Given the description of an element on the screen output the (x, y) to click on. 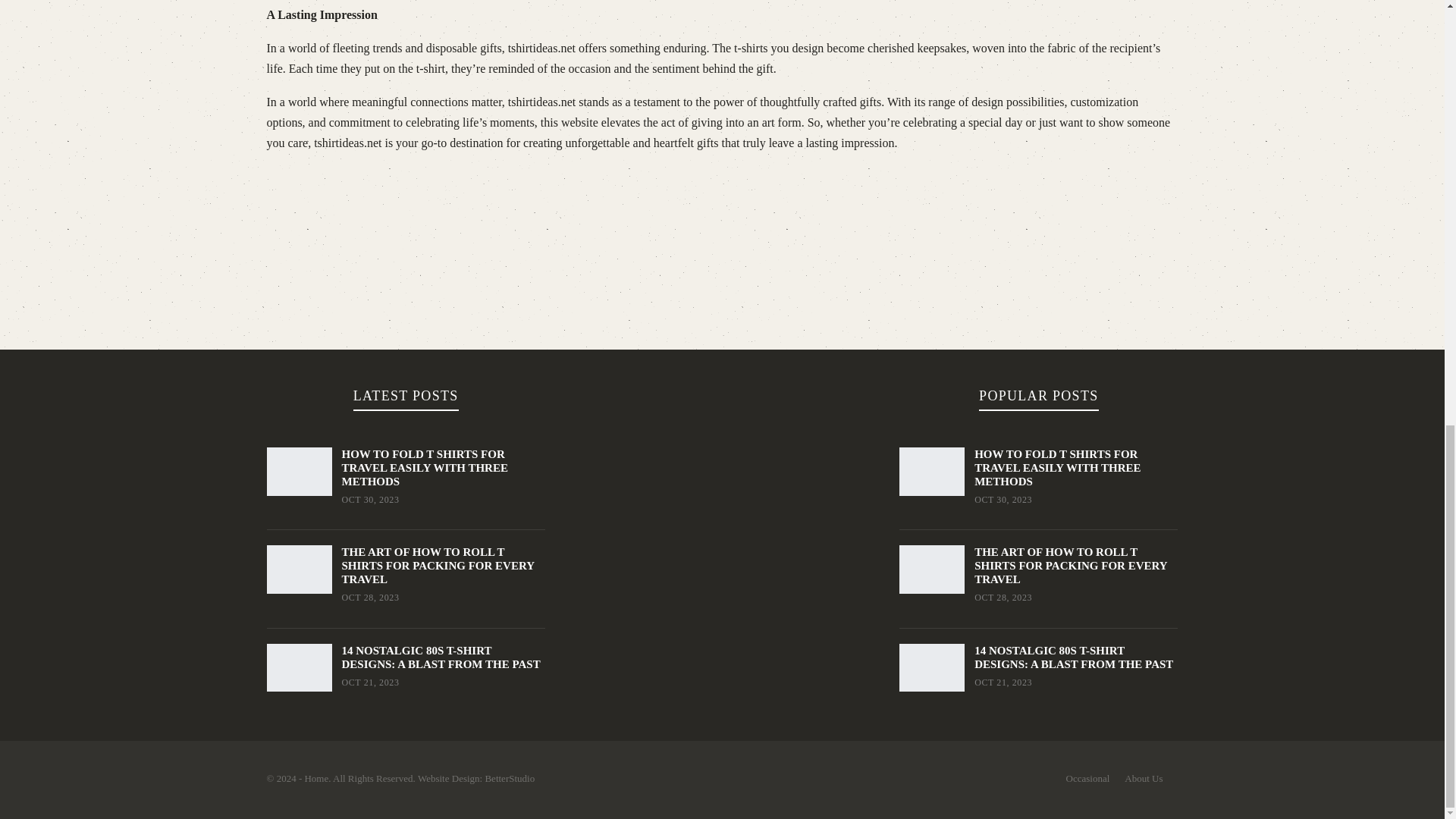
How to Fold T shirts for Travel Easily with Three Methods (931, 471)
The Art of How to Roll T Shirts for Packing for Every Travel (931, 569)
THE ART OF HOW TO ROLL T SHIRTS FOR PACKING FOR EVERY TRAVEL (1070, 565)
14 Nostalgic 80s T-Shirt Designs: A Blast from The Past (298, 667)
14 NOSTALGIC 80S T-SHIRT DESIGNS: A BLAST FROM THE PAST (1073, 657)
About Us (1142, 778)
HOW TO FOLD T SHIRTS FOR TRAVEL EASILY WITH THREE METHODS (423, 467)
Occasional (1087, 778)
The Art of How to Roll T Shirts for Packing for Every Travel (298, 569)
BetterStudio (509, 778)
